Given the description of an element on the screen output the (x, y) to click on. 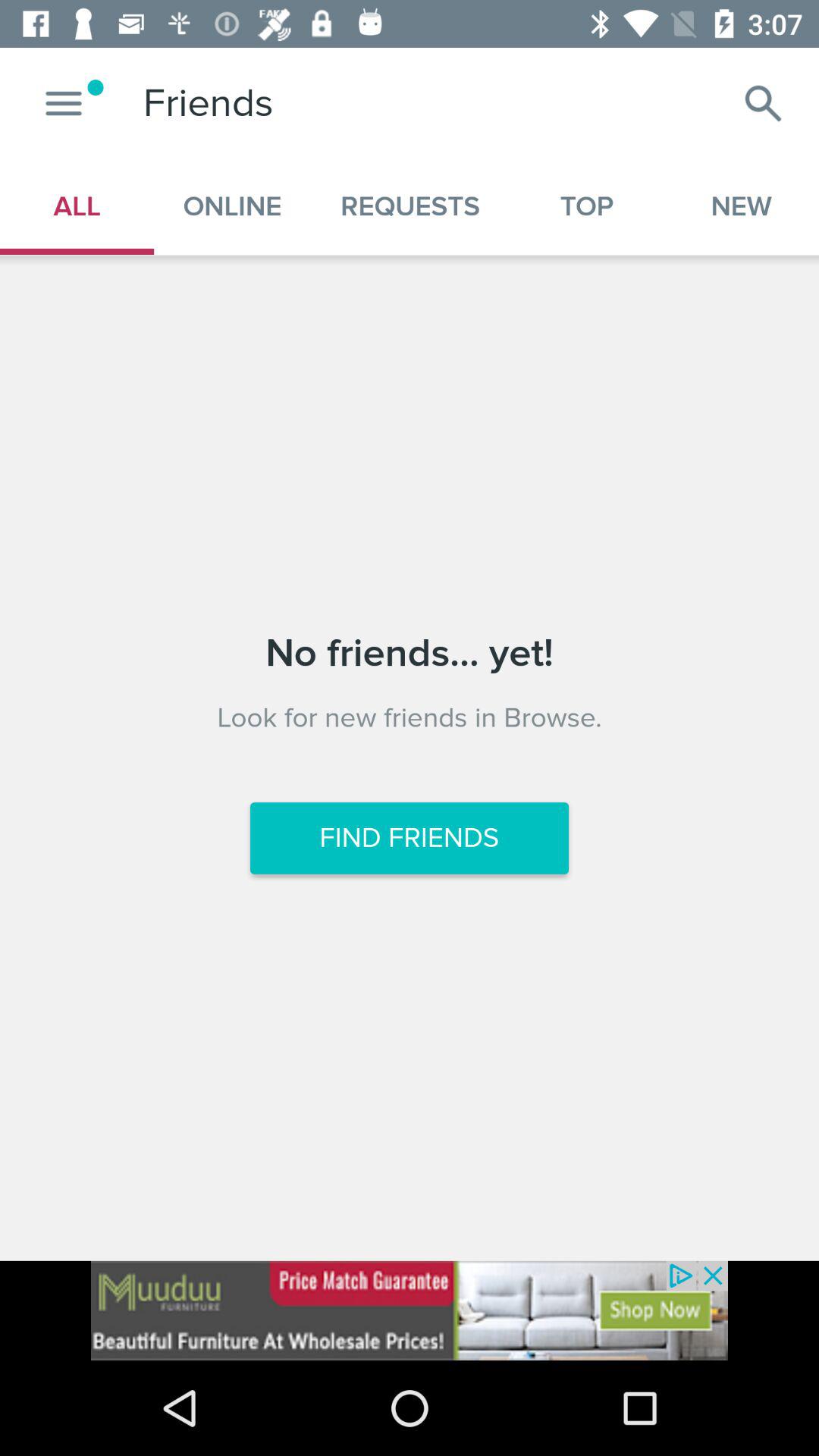
more options (63, 103)
